Given the description of an element on the screen output the (x, y) to click on. 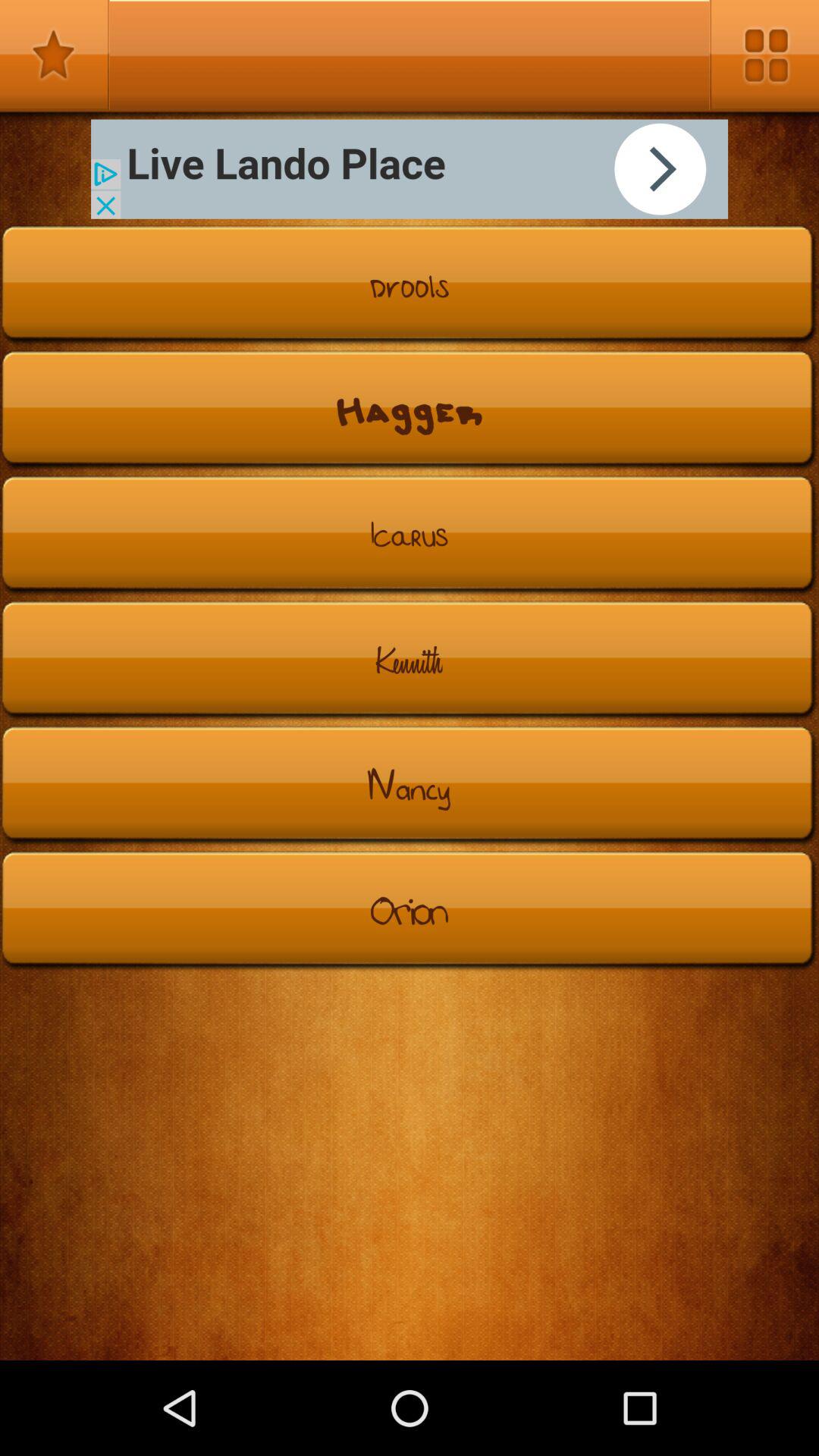
favoritc all time (54, 54)
